Given the description of an element on the screen output the (x, y) to click on. 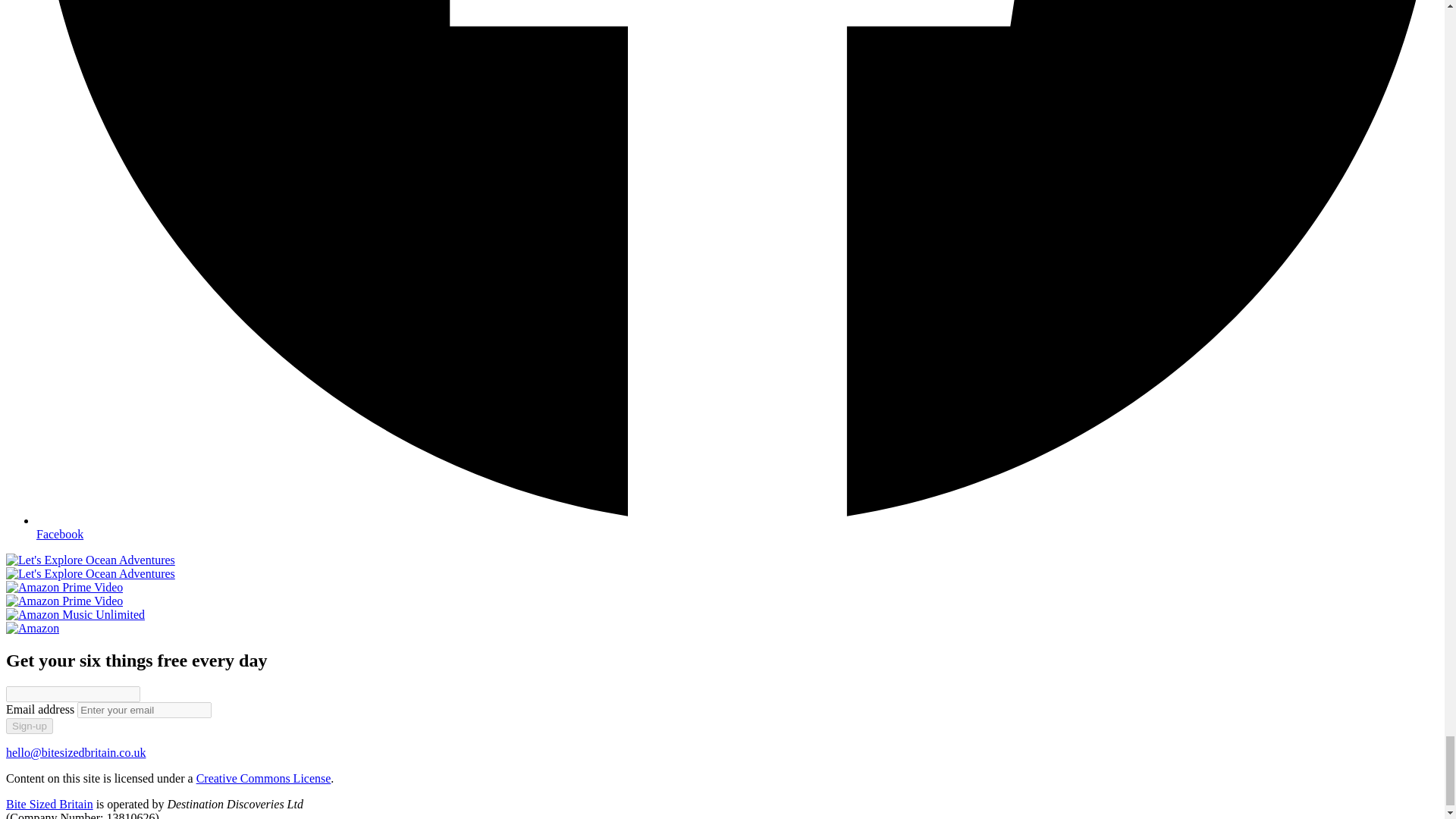
Sign-up (28, 725)
Bite Sized Britain (49, 803)
Creative Commons License (263, 778)
